Given the description of an element on the screen output the (x, y) to click on. 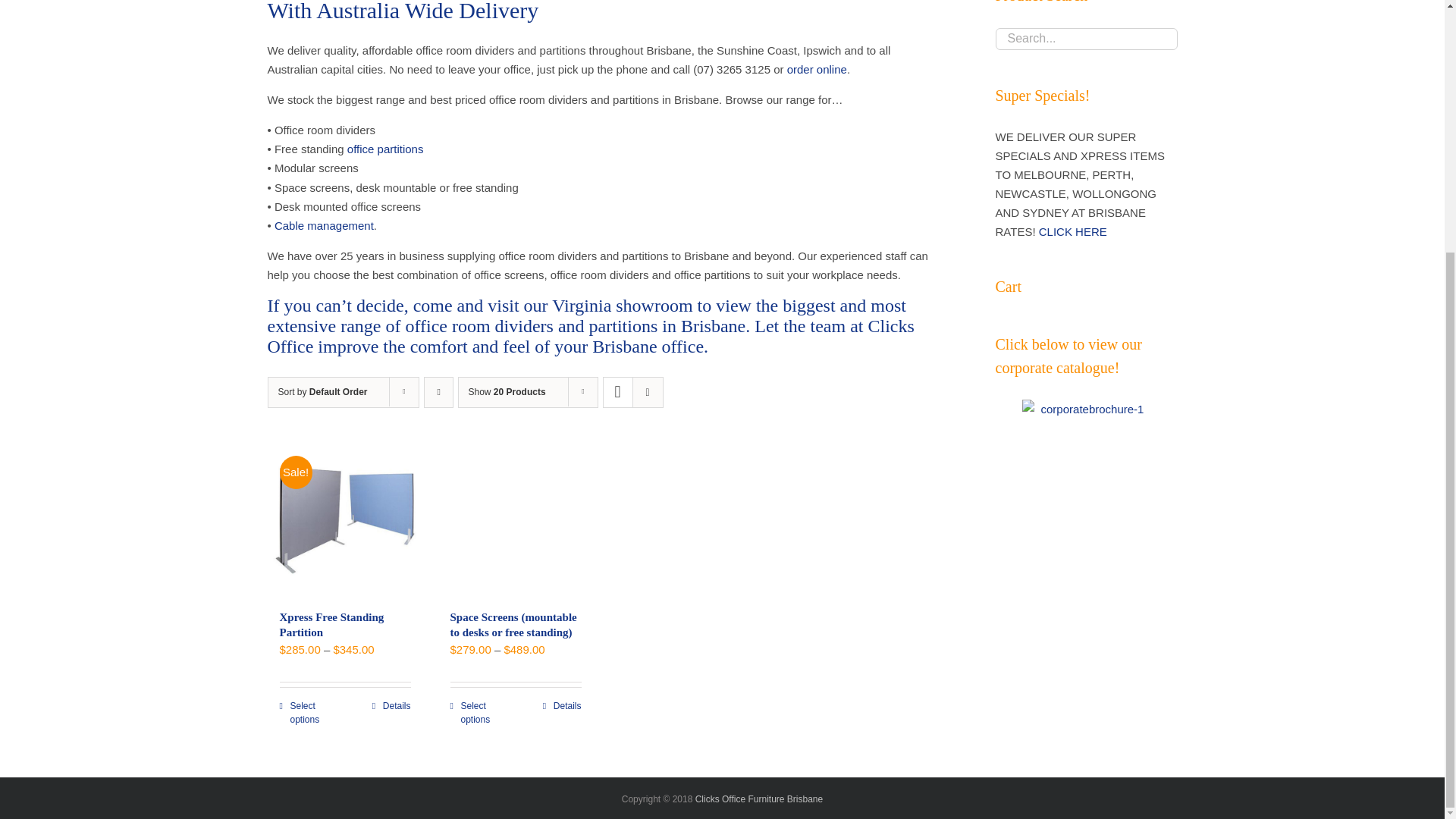
office partitions (385, 148)
Cable management (324, 225)
Sort by Default Order (322, 391)
Virginia showroom (622, 305)
order online (817, 69)
